Given the description of an element on the screen output the (x, y) to click on. 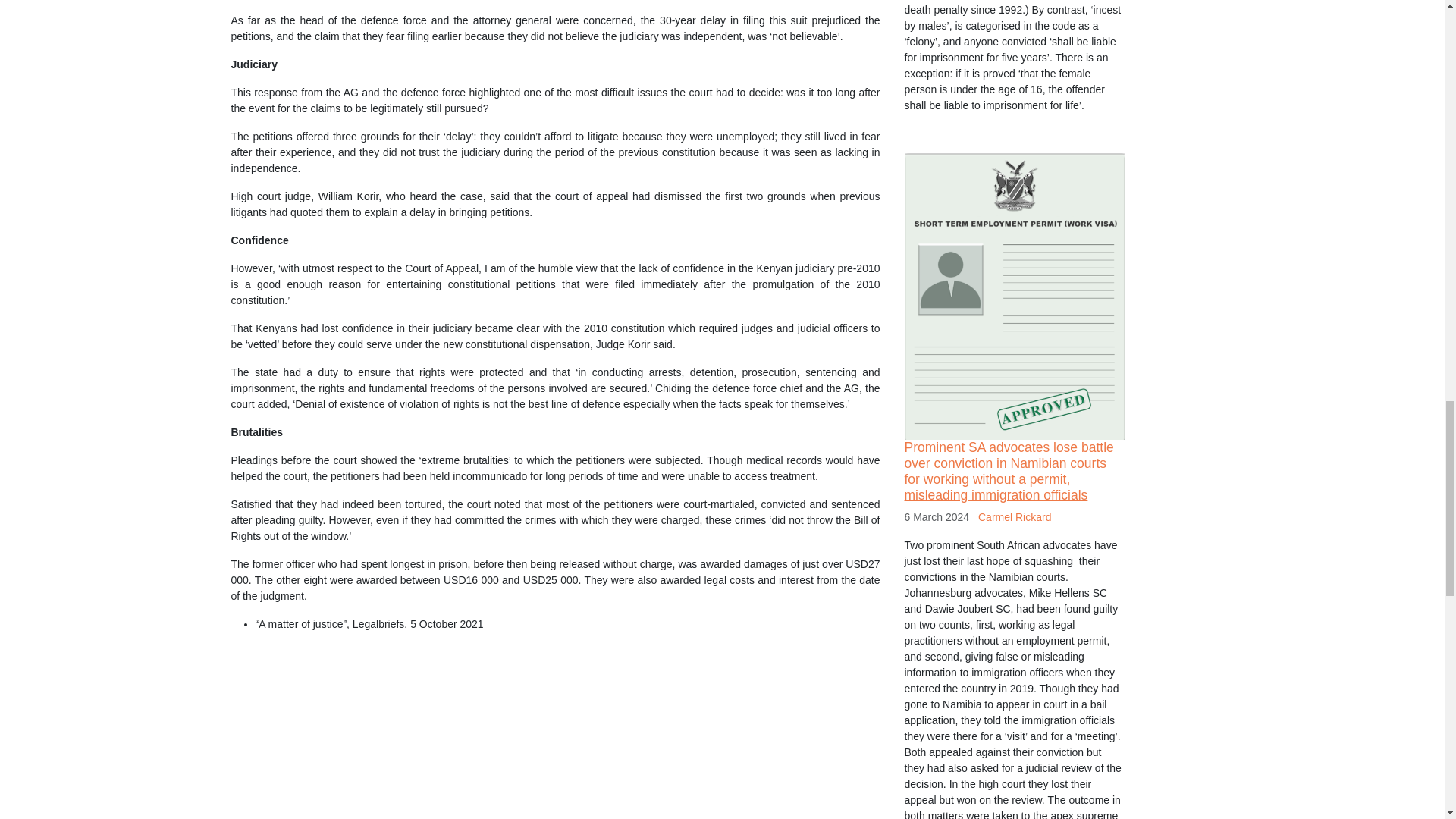
Carmel Rickard (1014, 517)
